Given the description of an element on the screen output the (x, y) to click on. 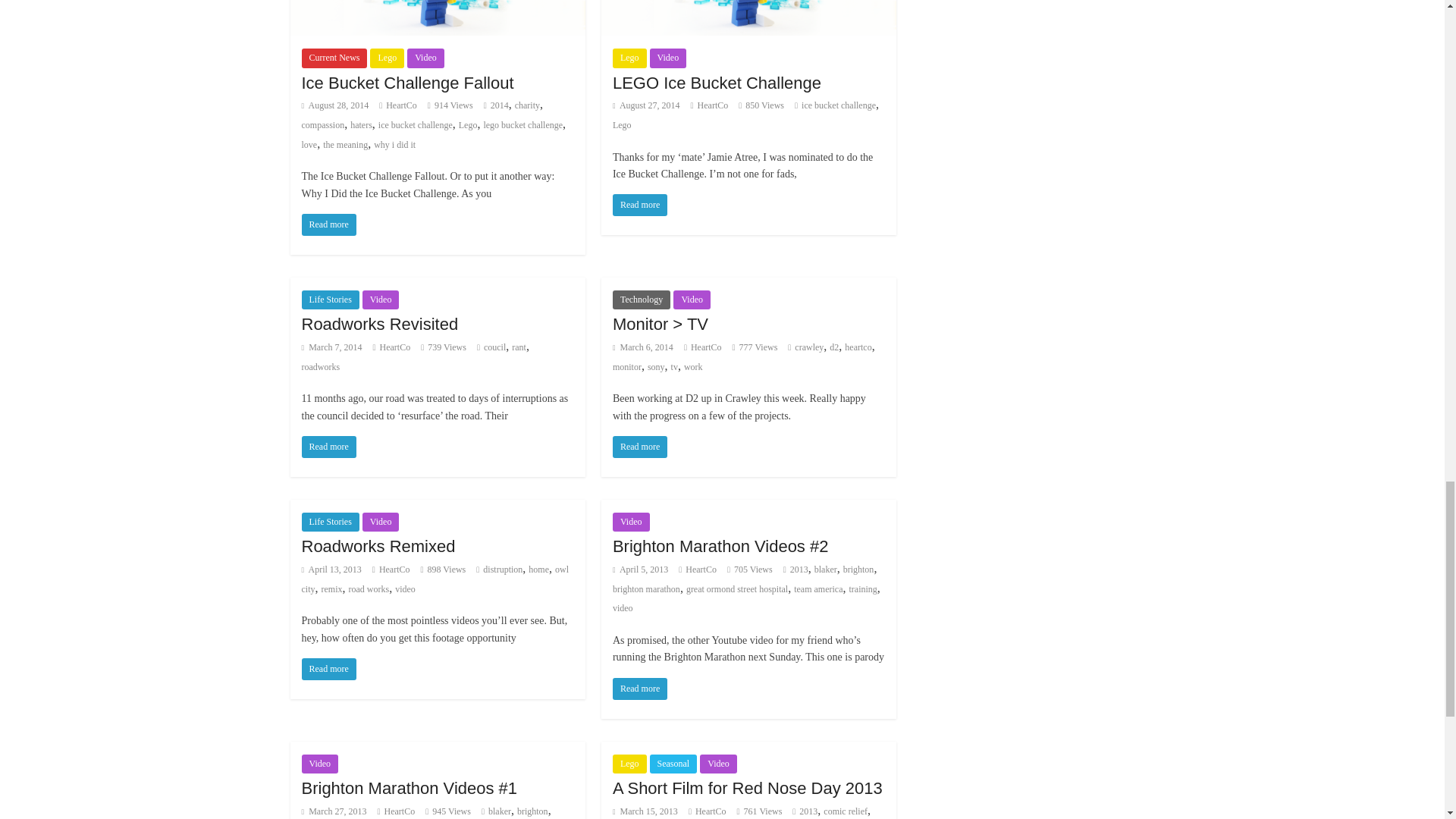
4:52 pm (335, 104)
HeartCo (713, 104)
LEGO Ice Bucket Challenge (716, 82)
3:15 pm (645, 104)
Ice Bucket Challenge Fallout (328, 224)
HeartCo (400, 104)
Ice Bucket Challenge Fallout (407, 82)
